Given the description of an element on the screen output the (x, y) to click on. 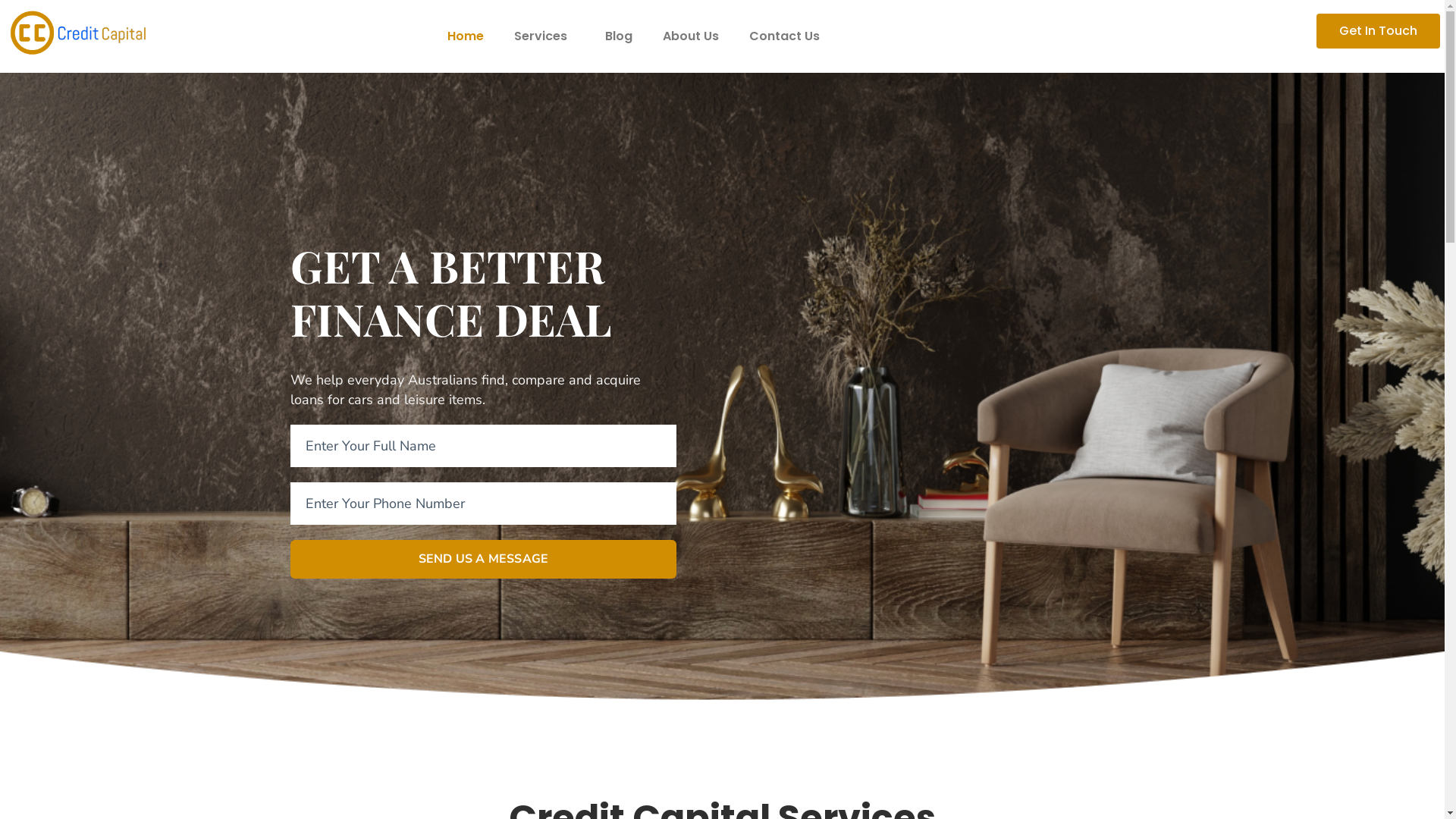
SEND US A MESSAGE Element type: text (482, 558)
Services Element type: text (543, 36)
Home Element type: text (465, 36)
Blog Element type: text (618, 36)
Get In Touch Element type: text (1378, 30)
About Us Element type: text (690, 36)
Contact Us Element type: text (784, 36)
